Given the description of an element on the screen output the (x, y) to click on. 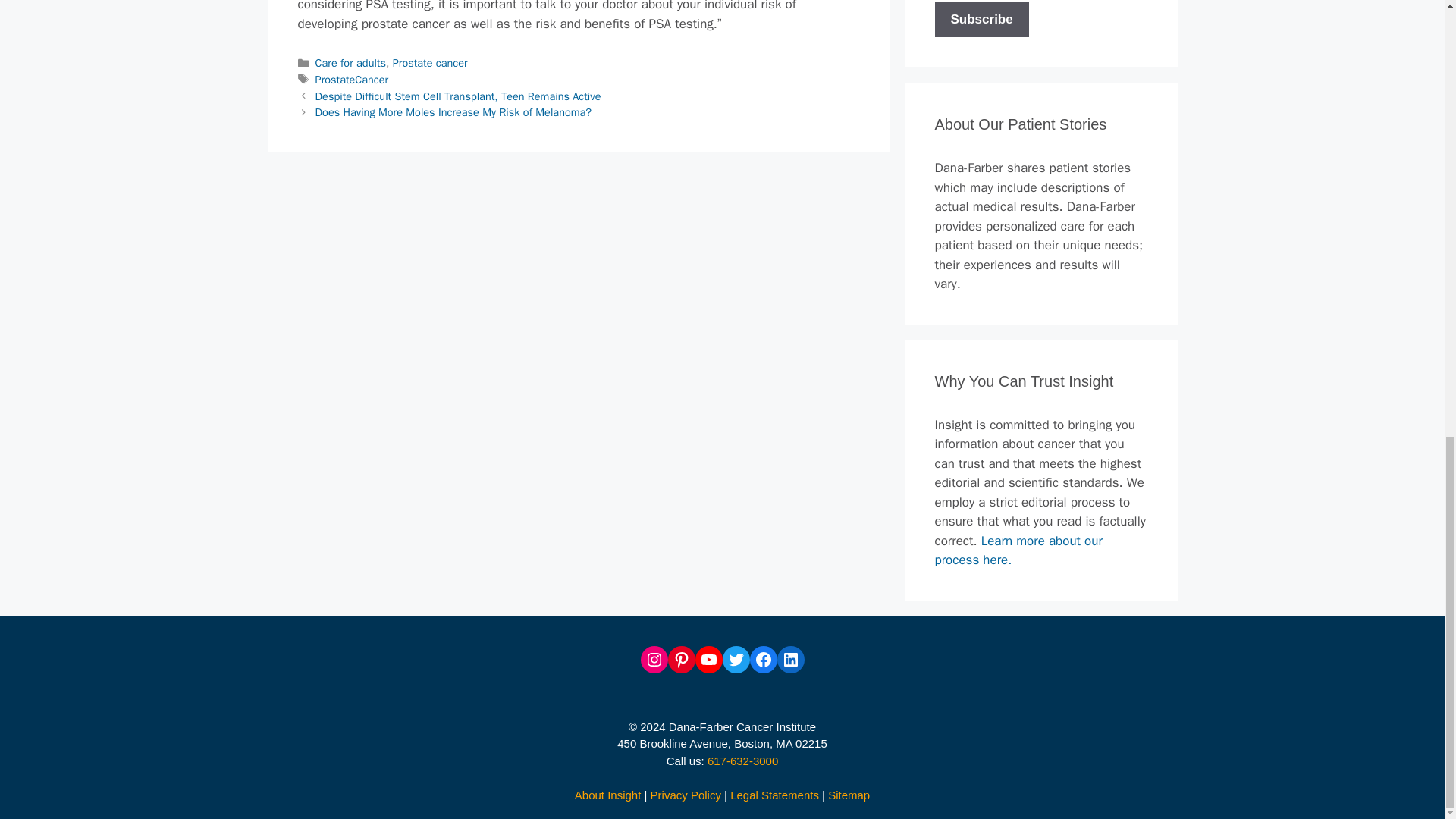
Subscribe (980, 18)
Legal Statements (774, 793)
Despite Difficult Stem Cell Transplant, Teen Remains Active (458, 96)
ProstateCancer (351, 79)
Subscribe (980, 18)
Sitemap (848, 793)
617-632-3000 (742, 760)
Does Having More Moles Increase My Risk of Melanoma? (453, 111)
About Insight (608, 793)
Learn more about our process here. (1018, 550)
Care for adults (350, 62)
Prostate cancer (430, 62)
Privacy Policy (685, 793)
